Given the description of an element on the screen output the (x, y) to click on. 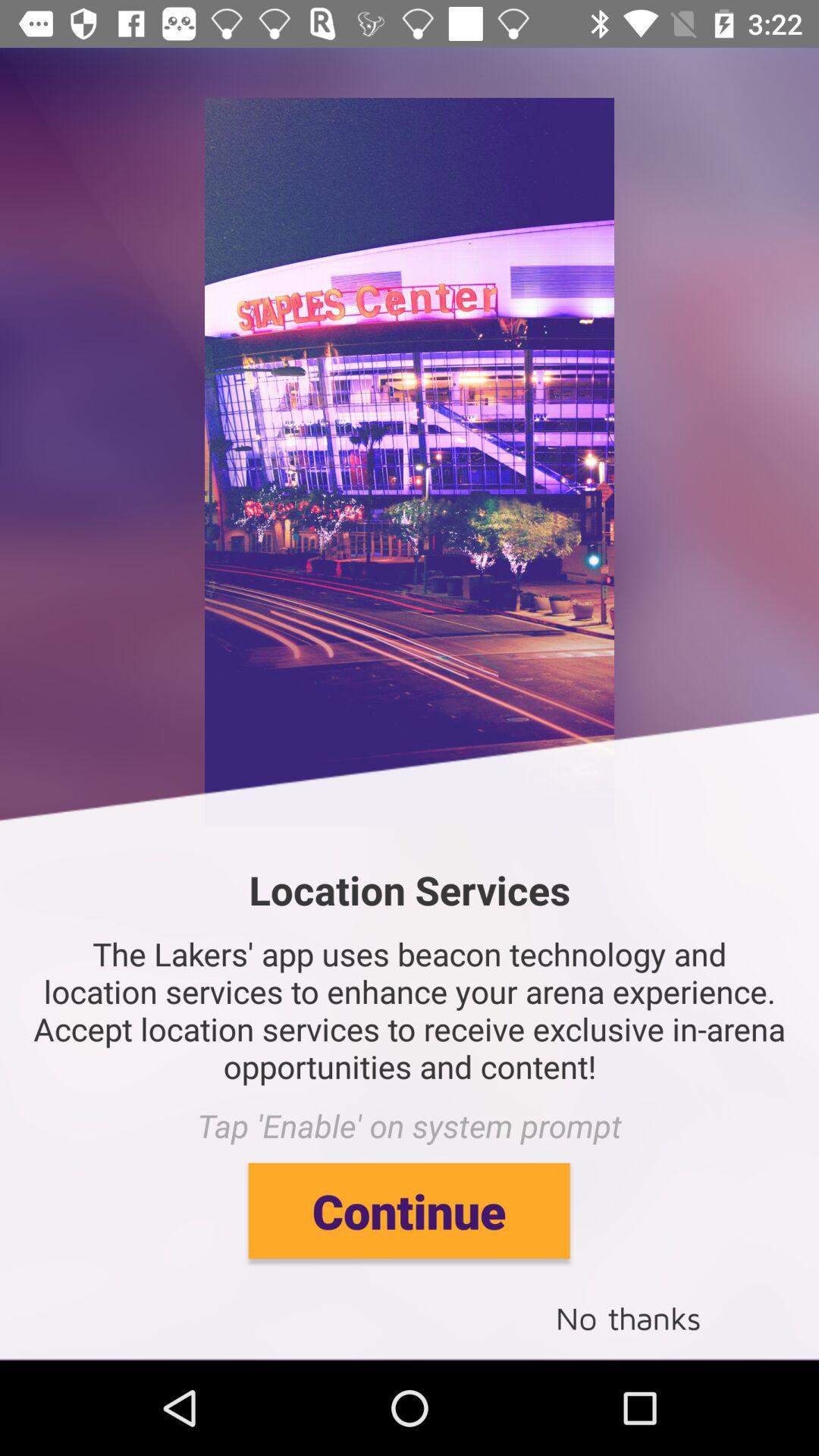
swipe until the no thanks (627, 1317)
